Given the description of an element on the screen output the (x, y) to click on. 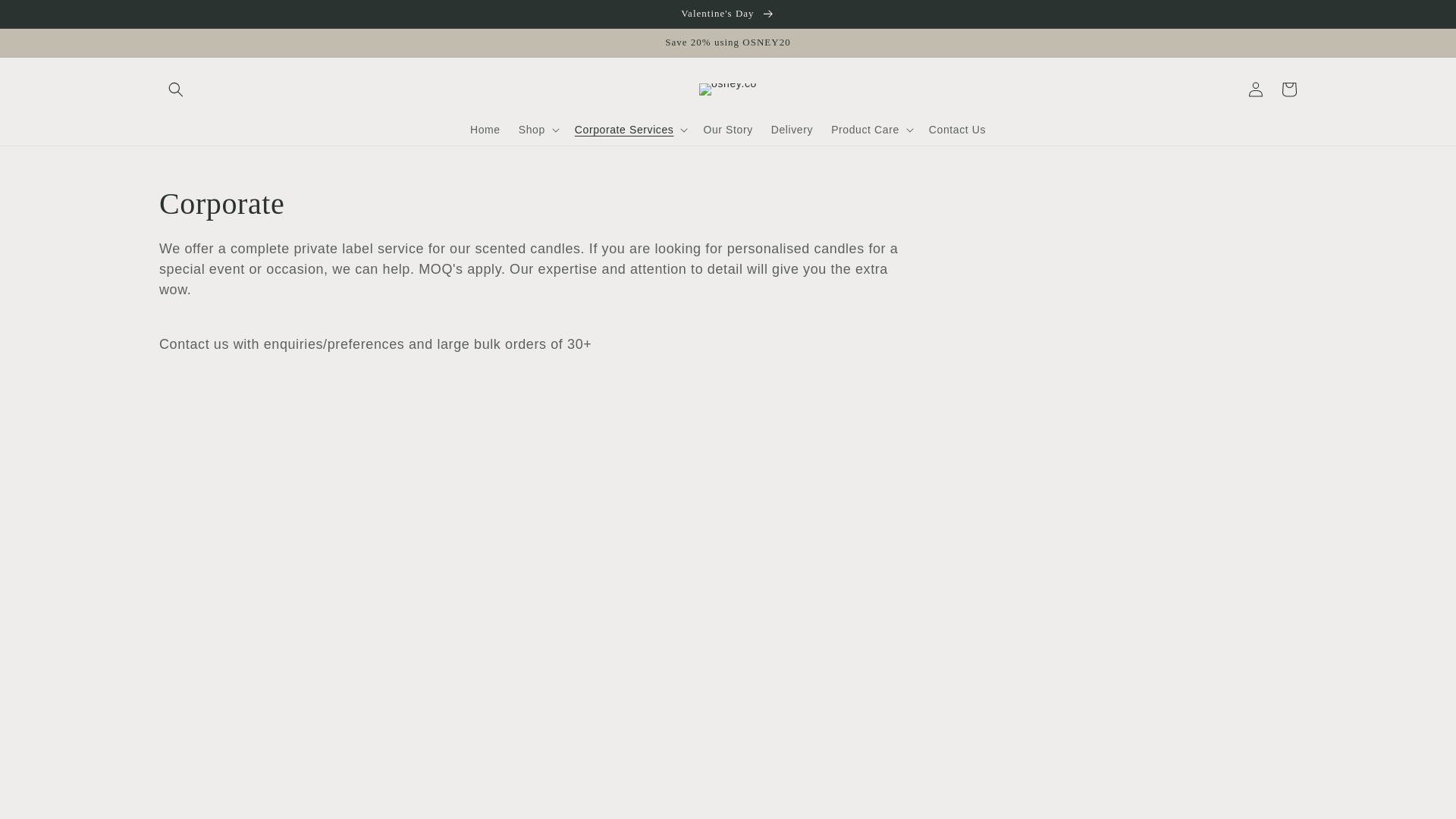
Skip to content (45, 16)
Our Story (727, 129)
Home (485, 129)
Cart (1289, 89)
Delivery (791, 129)
Contact Us (957, 129)
Log in (1255, 89)
